Given the description of an element on the screen output the (x, y) to click on. 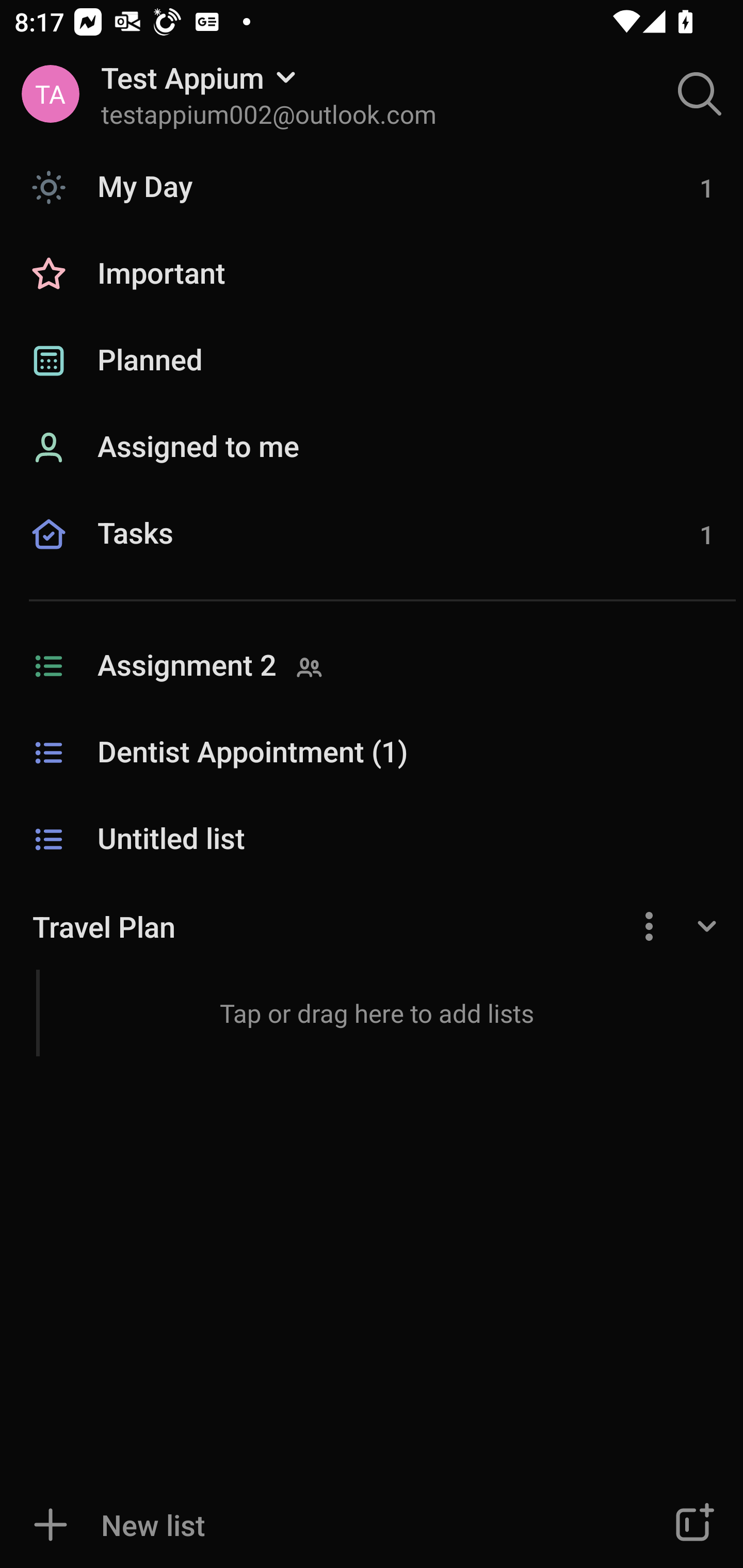
Enter search (699, 93)
My Day, 1 tasks My Day 1 (371, 187)
Important, 0 tasks Important (371, 274)
Planned, 0 tasks Planned (371, 361)
Assigned to me, 0 tasks Assigned to me (371, 447)
Tasks, 1 tasks Tasks 1 (371, 556)
Shared list. Assignment 2 Assignment 2 Shared list (371, 666)
Dentist Appointment (1) (371, 753)
Untitled list (371, 839)
More options for group Travel Plan (648, 925)
Tap or drag here to add lists (371, 1012)
New list (312, 1524)
Create group (692, 1524)
